Given the description of an element on the screen output the (x, y) to click on. 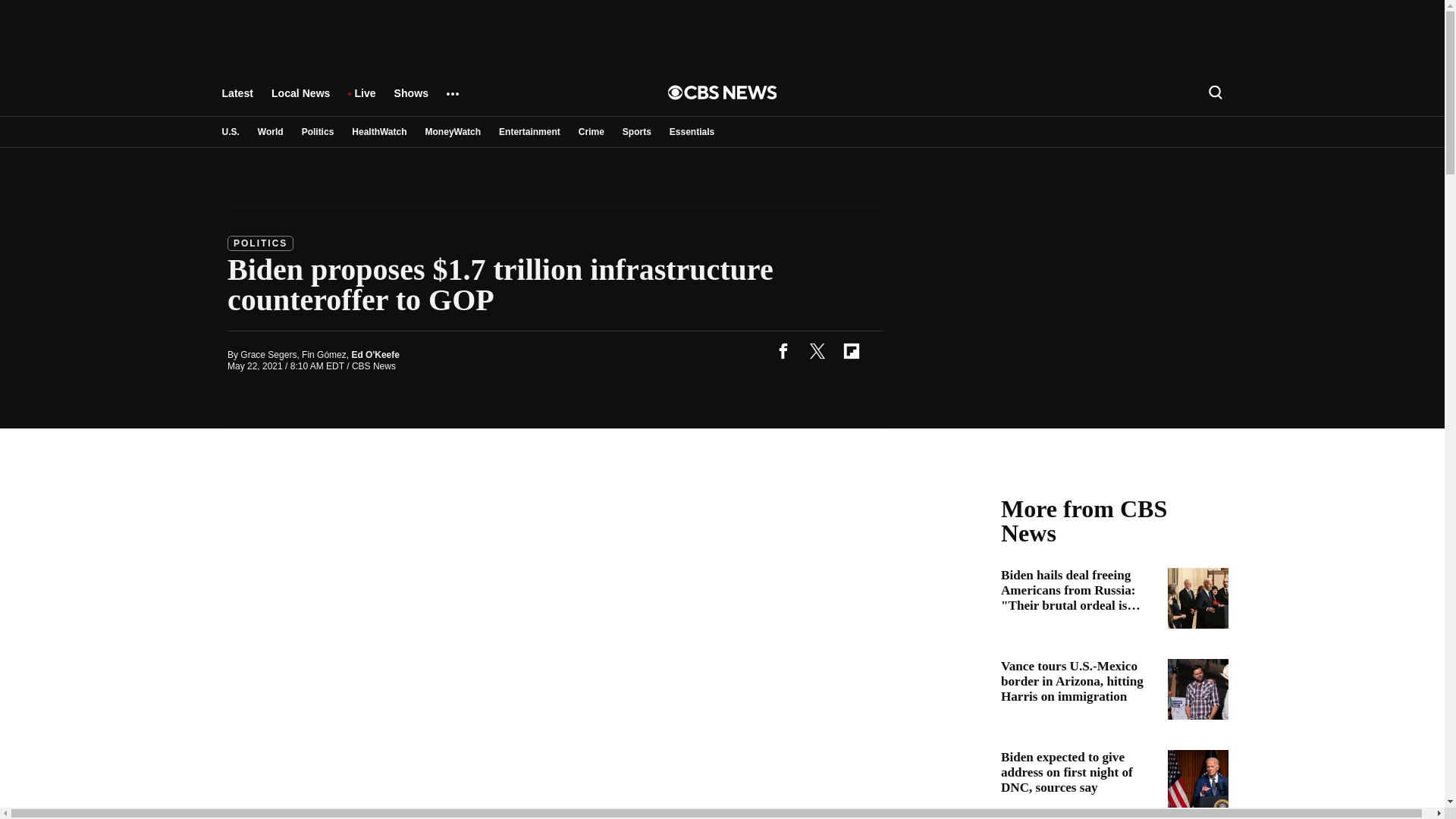
Local News (300, 100)
twitter (816, 350)
facebook (782, 350)
Latest (236, 100)
flipboard (850, 350)
